Given the description of an element on the screen output the (x, y) to click on. 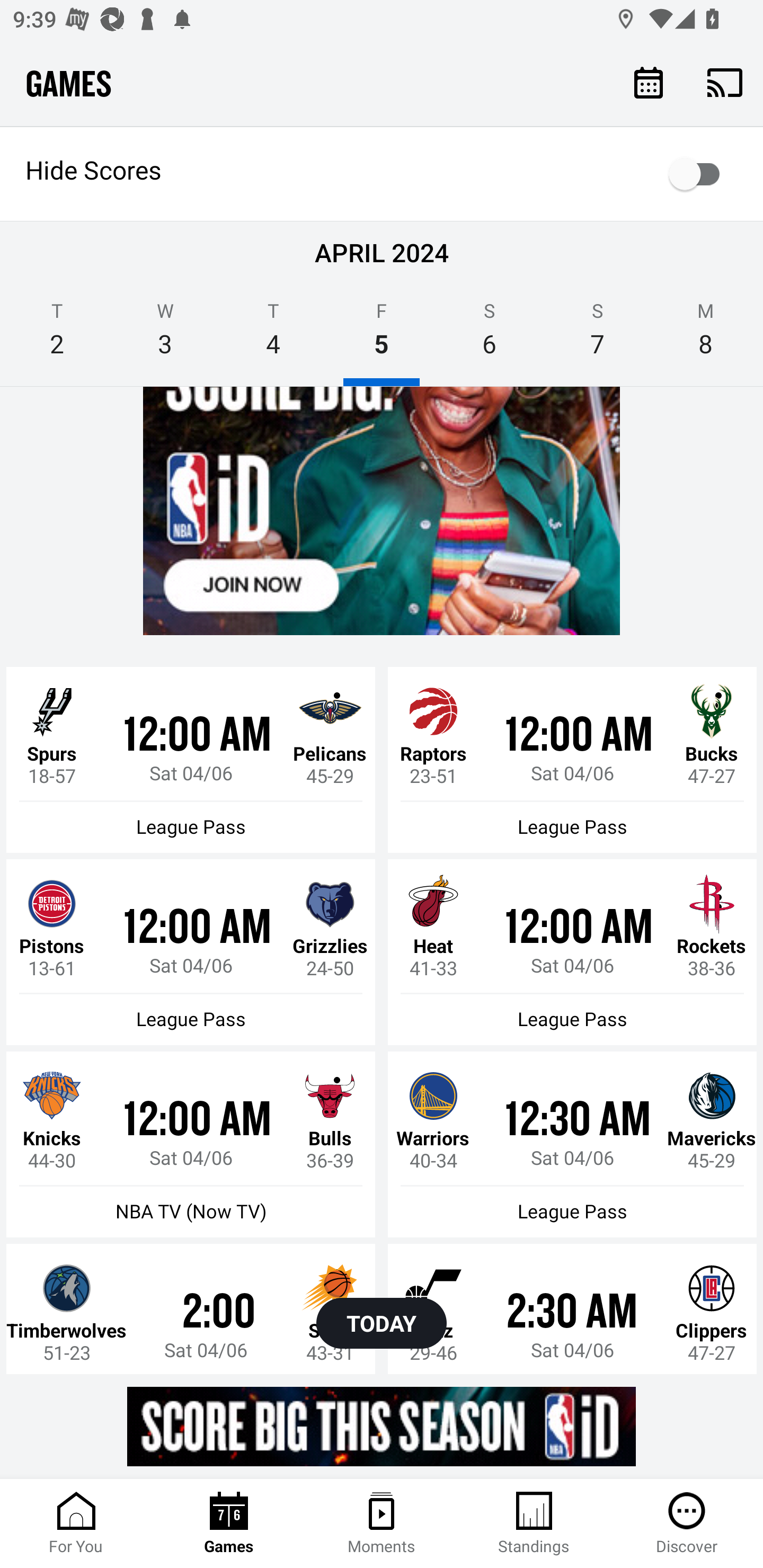
Cast. Disconnected (724, 82)
Calendar (648, 81)
Hide Scores (381, 174)
T 2 (57, 334)
W 3 (165, 334)
T 4 (273, 334)
F 5 (381, 334)
S 6 (489, 334)
S 7 (597, 334)
M 8 (705, 334)
g5nqqygr7owph (381, 511)
TODAY (381, 1323)
g5nqqygr7owph (381, 1426)
For You (76, 1523)
Moments (381, 1523)
Standings (533, 1523)
Discover (686, 1523)
